Given the description of an element on the screen output the (x, y) to click on. 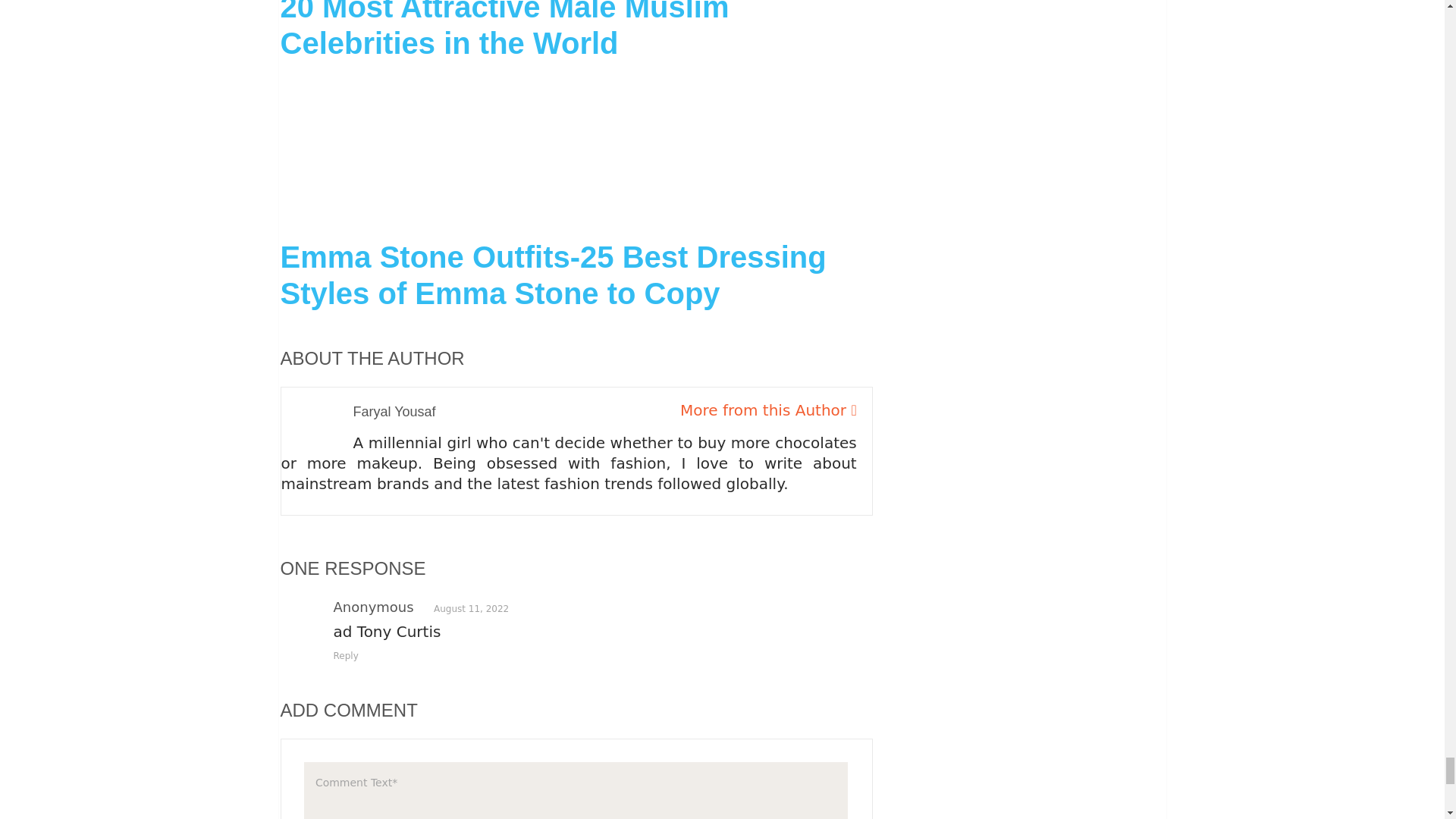
20 Most Attractive Male Muslim Celebrities in the World (505, 29)
Reply (345, 656)
More from this Author (768, 410)
